Given the description of an element on the screen output the (x, y) to click on. 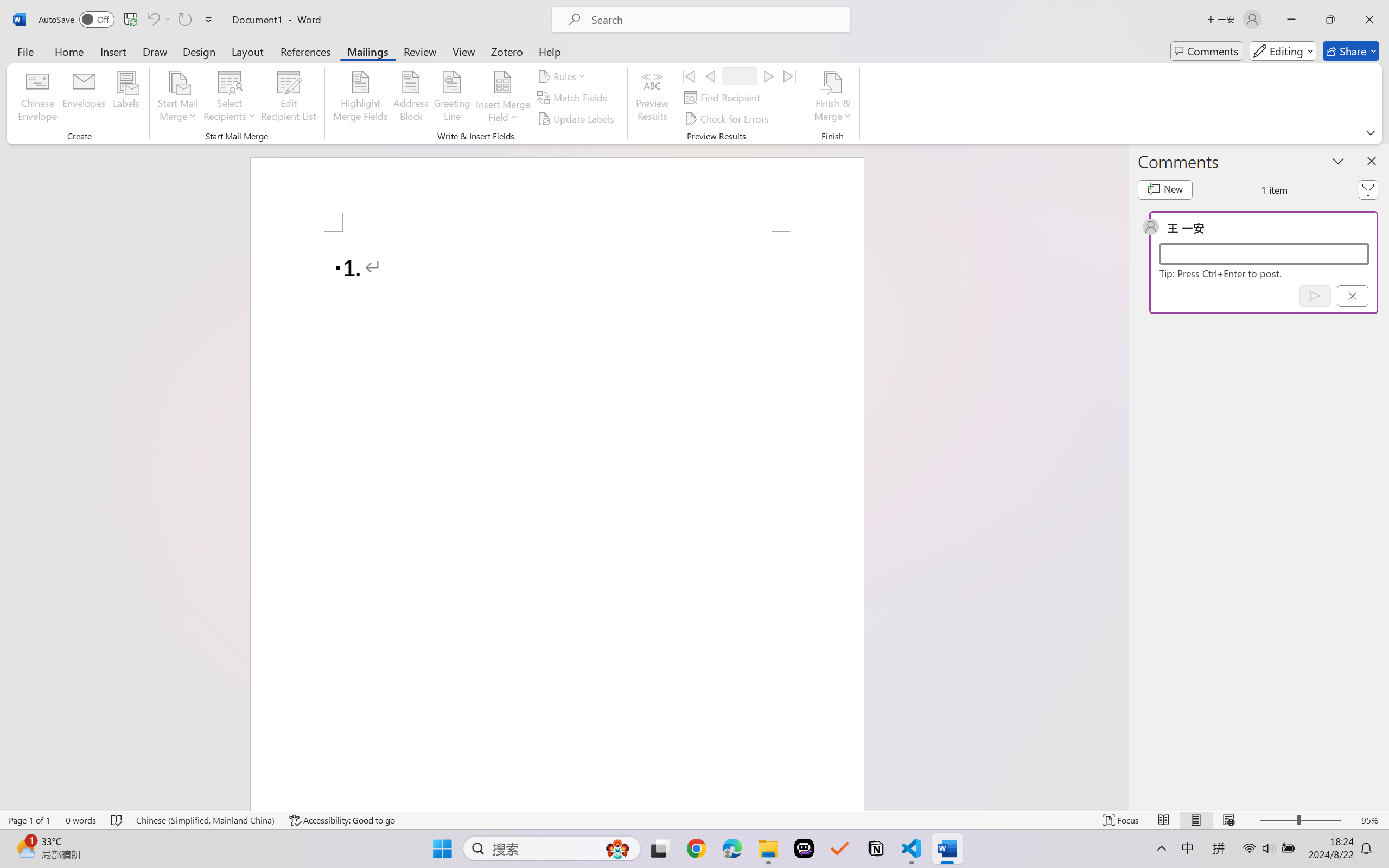
Last (790, 75)
Labels... (126, 97)
Start Mail Merge (177, 97)
Previous (709, 75)
Edit Recipient List... (288, 97)
Rules (563, 75)
Insert Merge Field (502, 97)
Language Chinese (Simplified, Mainland China) (205, 819)
